Given the description of an element on the screen output the (x, y) to click on. 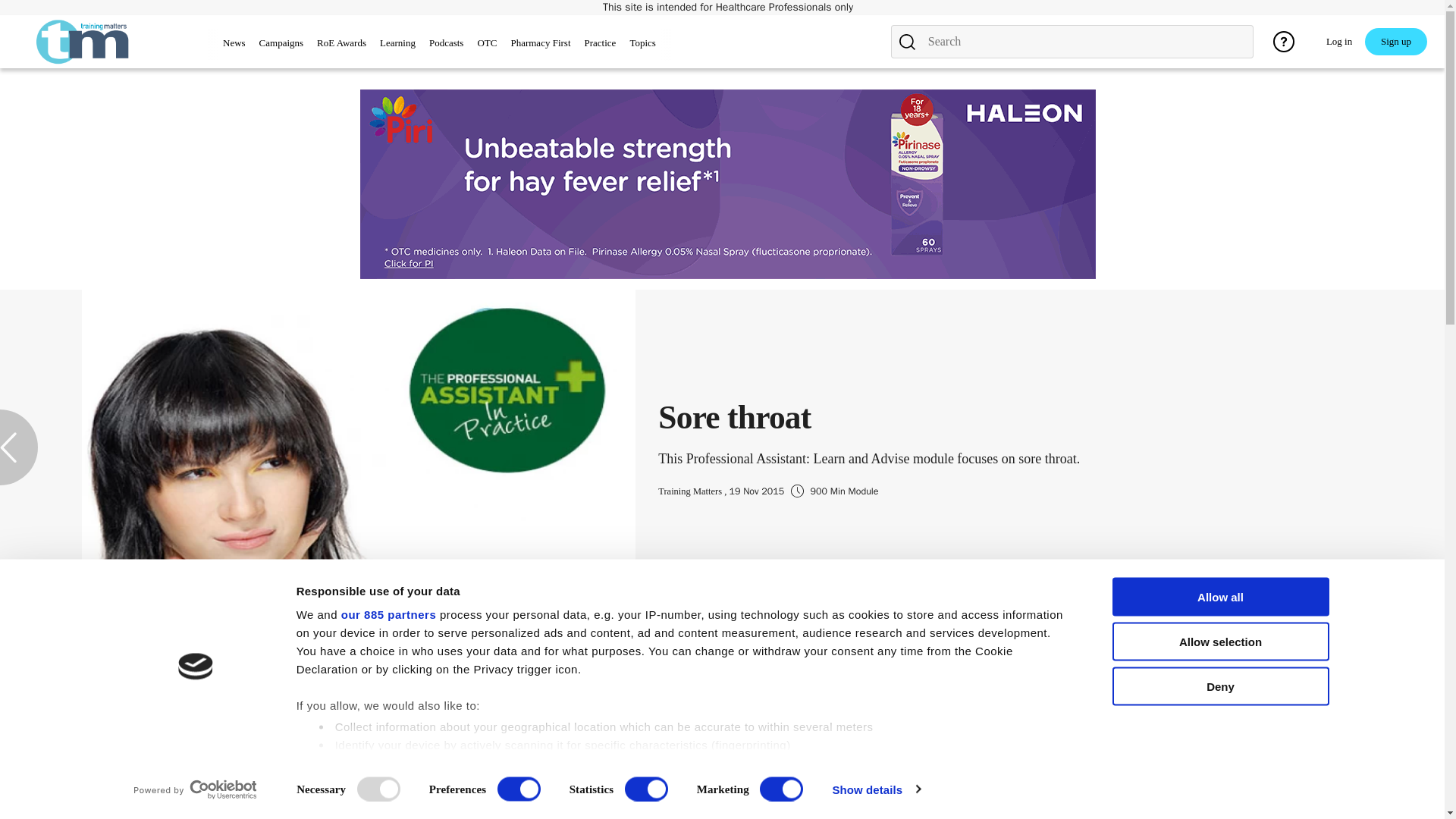
our 885 partners (388, 614)
details section (825, 765)
Show details (875, 789)
